Given the description of an element on the screen output the (x, y) to click on. 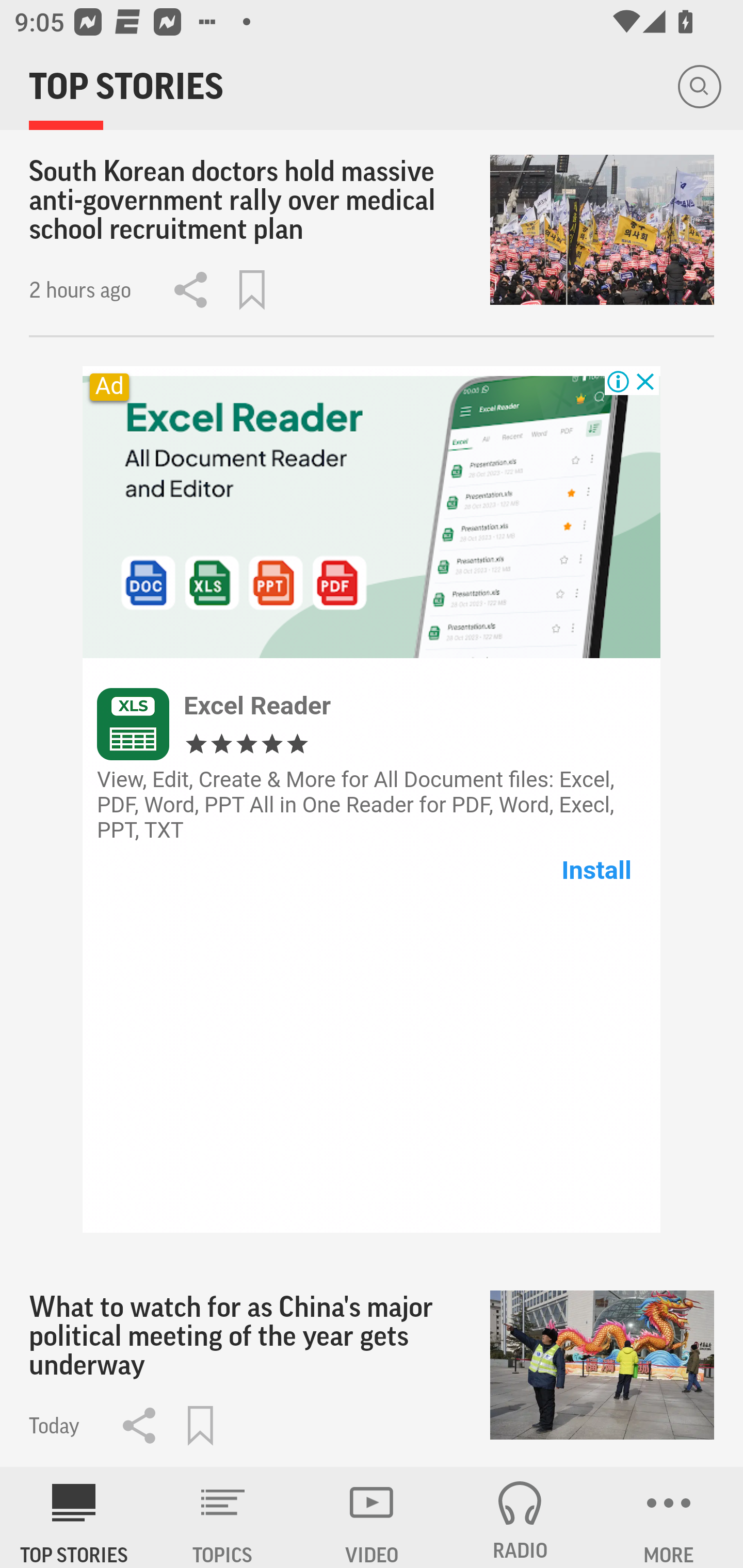
Excel Reader (257, 704)
Install (595, 868)
AP News TOP STORIES (74, 1517)
TOPICS (222, 1517)
VIDEO (371, 1517)
RADIO (519, 1517)
MORE (668, 1517)
